Given the description of an element on the screen output the (x, y) to click on. 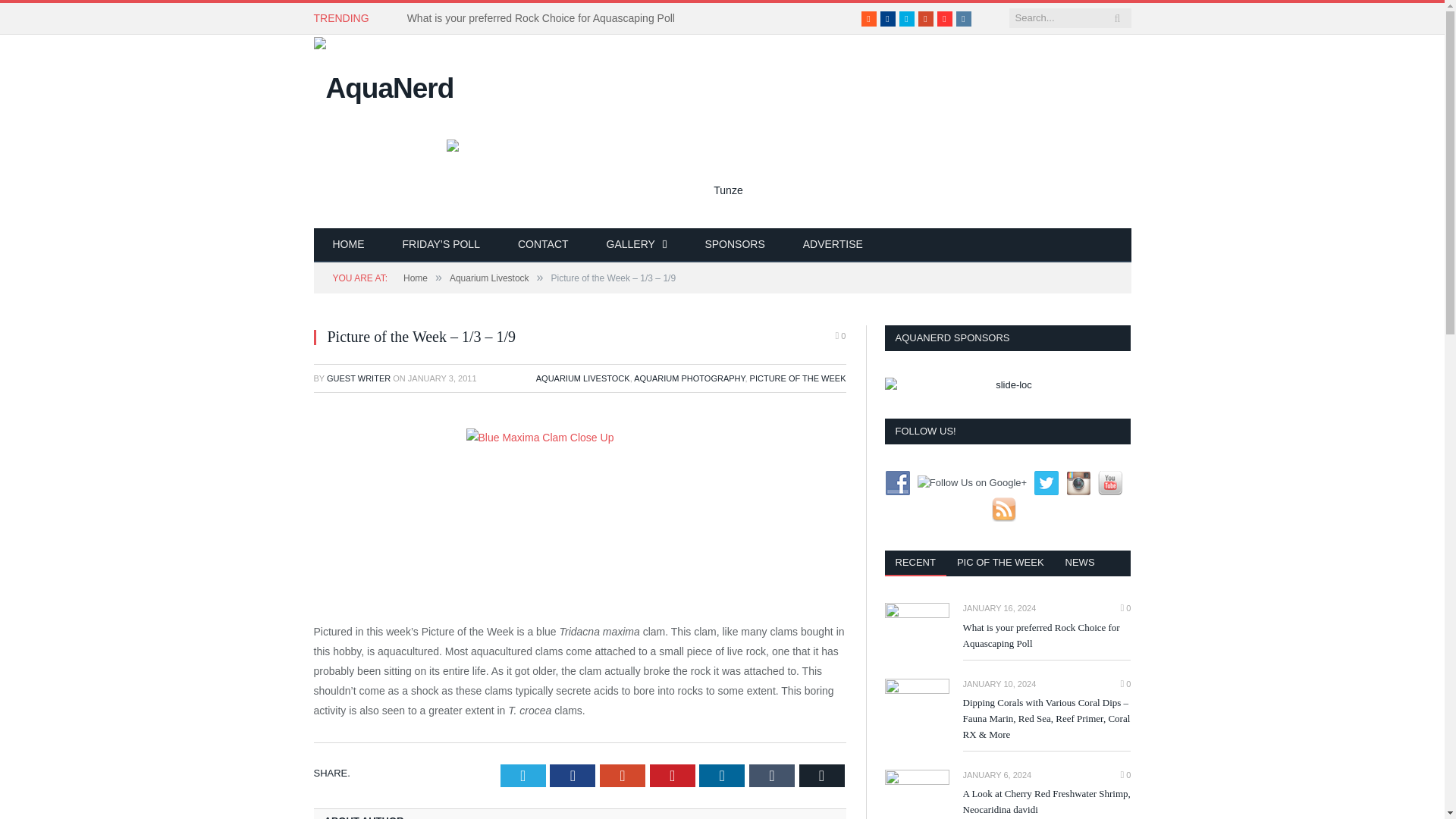
Tunze (721, 175)
Instagram (963, 18)
GUEST WRITER (358, 378)
YouTube (944, 18)
AQUARIUM LIVESTOCK (582, 378)
Facebook (887, 18)
YouTube (944, 18)
HOME (349, 245)
Aquarium Livestock (489, 277)
GALLERY (636, 245)
